Given the description of an element on the screen output the (x, y) to click on. 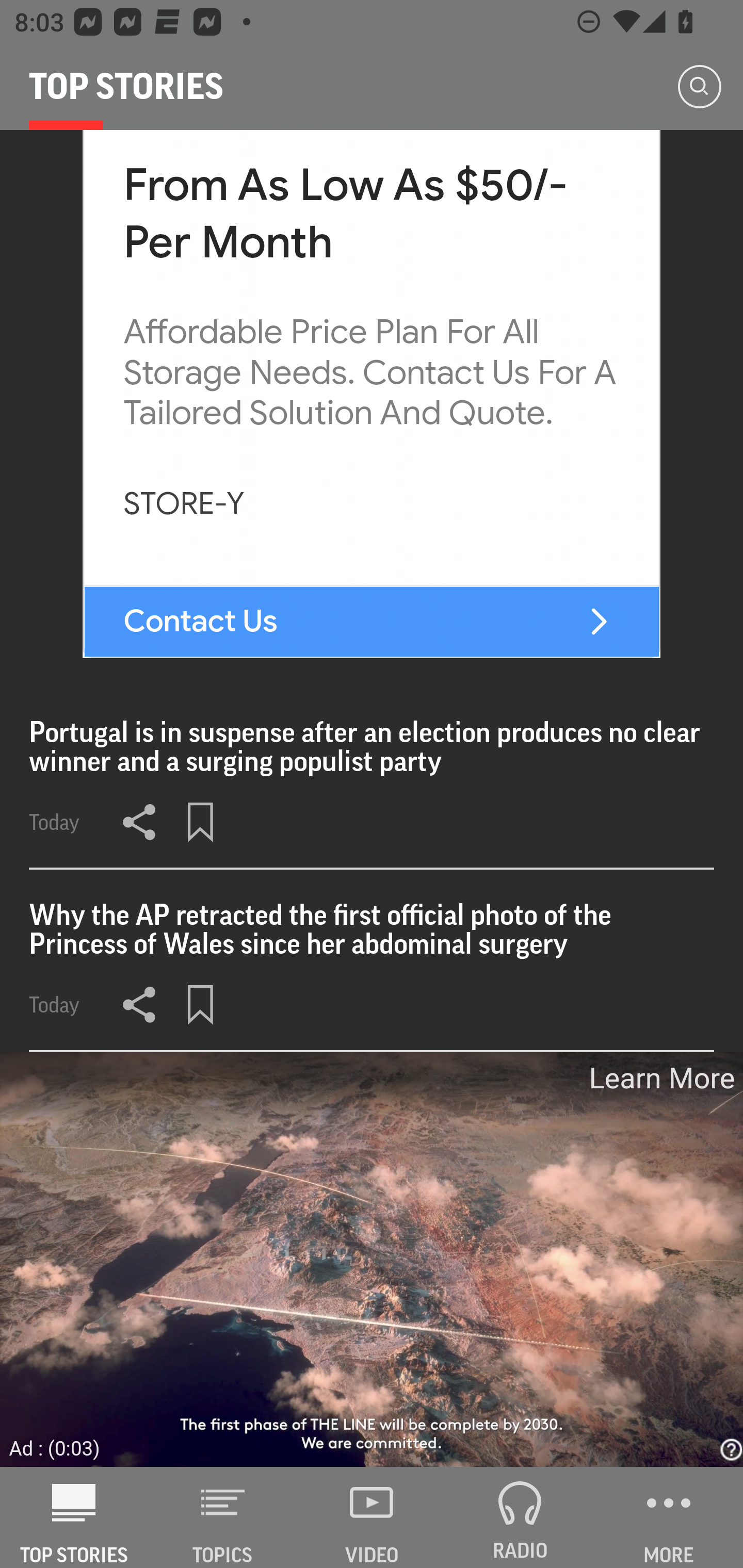
STORE-Y (183, 504)
Contact Us (200, 621)
Learn More (660, 1077)
Ad : (0:03) (54, 1446)
help_outline_white_24dp_with_3px_trbl_padding (728, 1450)
AP News TOP STORIES (74, 1517)
TOPICS (222, 1517)
VIDEO (371, 1517)
RADIO (519, 1517)
MORE (668, 1517)
